Given the description of an element on the screen output the (x, y) to click on. 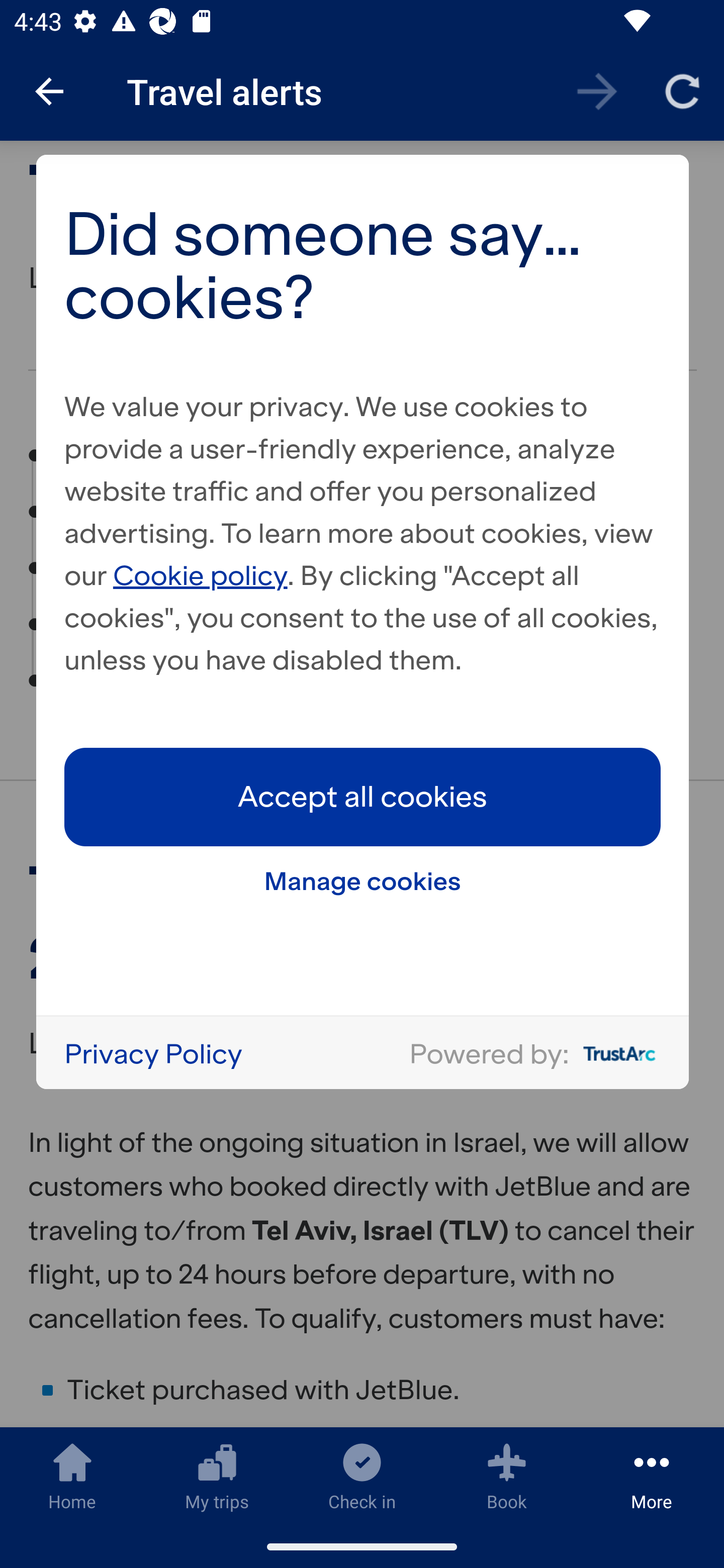
Navigate up (49, 91)
Forward (597, 90)
Reload (681, 90)
Tel Aviv, Israel Fee Waiver 2/1/24 - 4/30/24 (360, 455)
Construction At Reno/Tahoe, NV Airport (342, 568)
Cookie policy (200, 574)
Air Traffic Control Delays (237, 624)
Accept all cookies (362, 797)
Manage cookies (362, 880)
Privacy Policy (152, 1053)
Company logo for TrustArc (614, 1053)
Home (72, 1475)
My trips (216, 1475)
Check in (361, 1475)
Book (506, 1475)
